Given the description of an element on the screen output the (x, y) to click on. 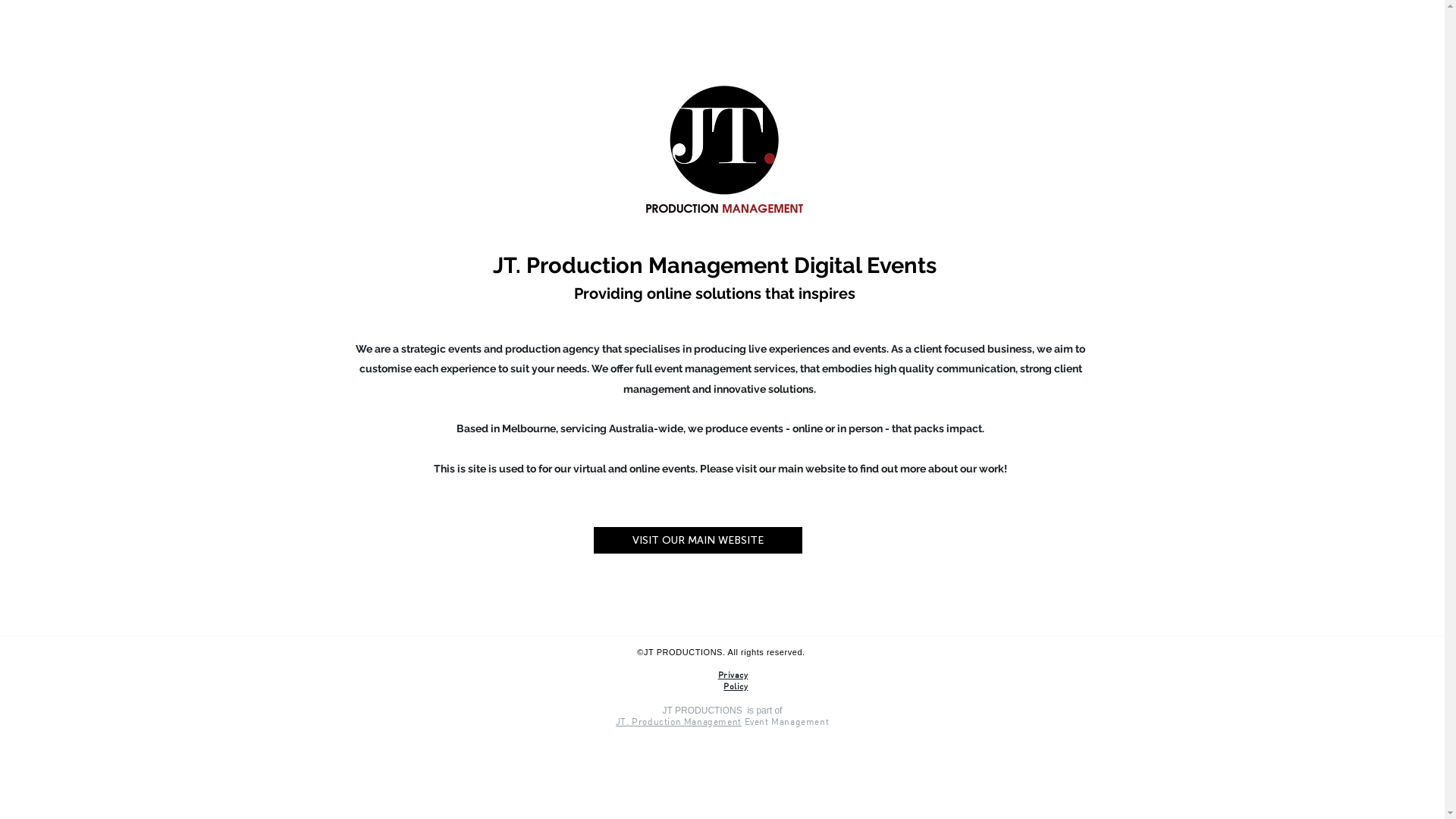
JT. Production Management Element type: text (678, 721)
VISIT OUR MAIN WEBSITE Element type: text (697, 540)
Privacy Policy Element type: text (733, 680)
